Given the description of an element on the screen output the (x, y) to click on. 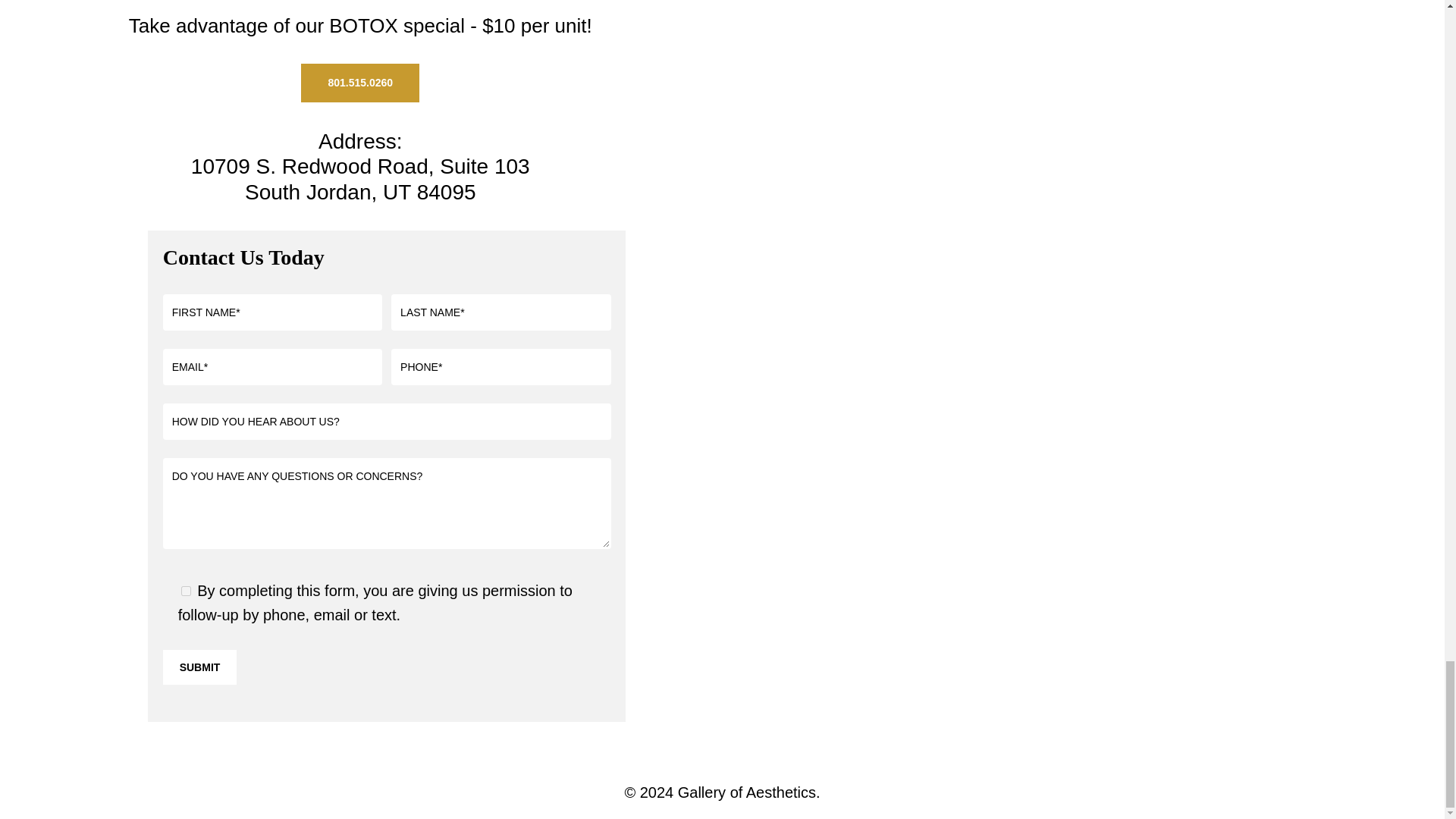
SUBMIT (200, 667)
